Given the description of an element on the screen output the (x, y) to click on. 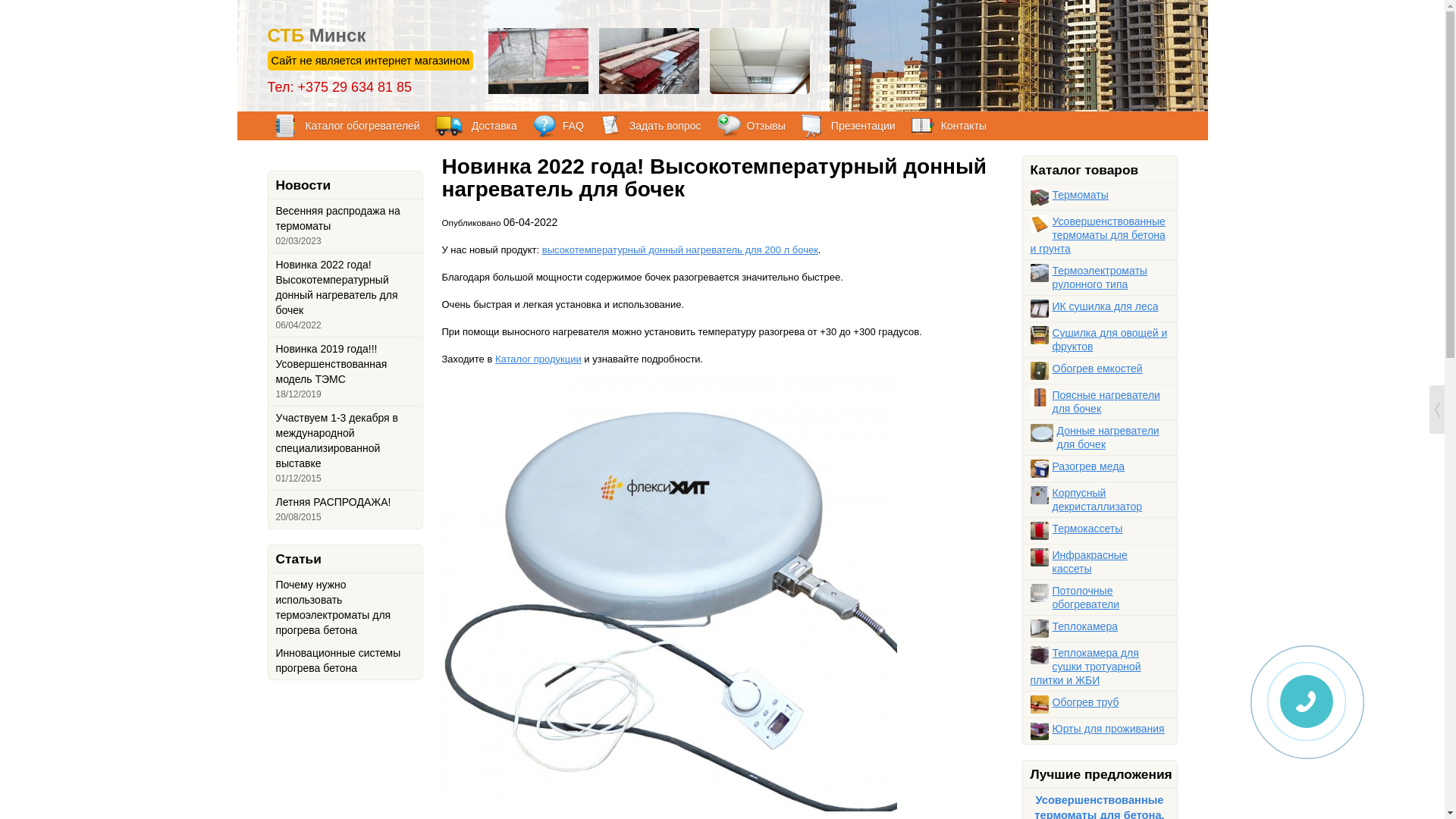
FAQ Element type: text (557, 125)
